Given the description of an element on the screen output the (x, y) to click on. 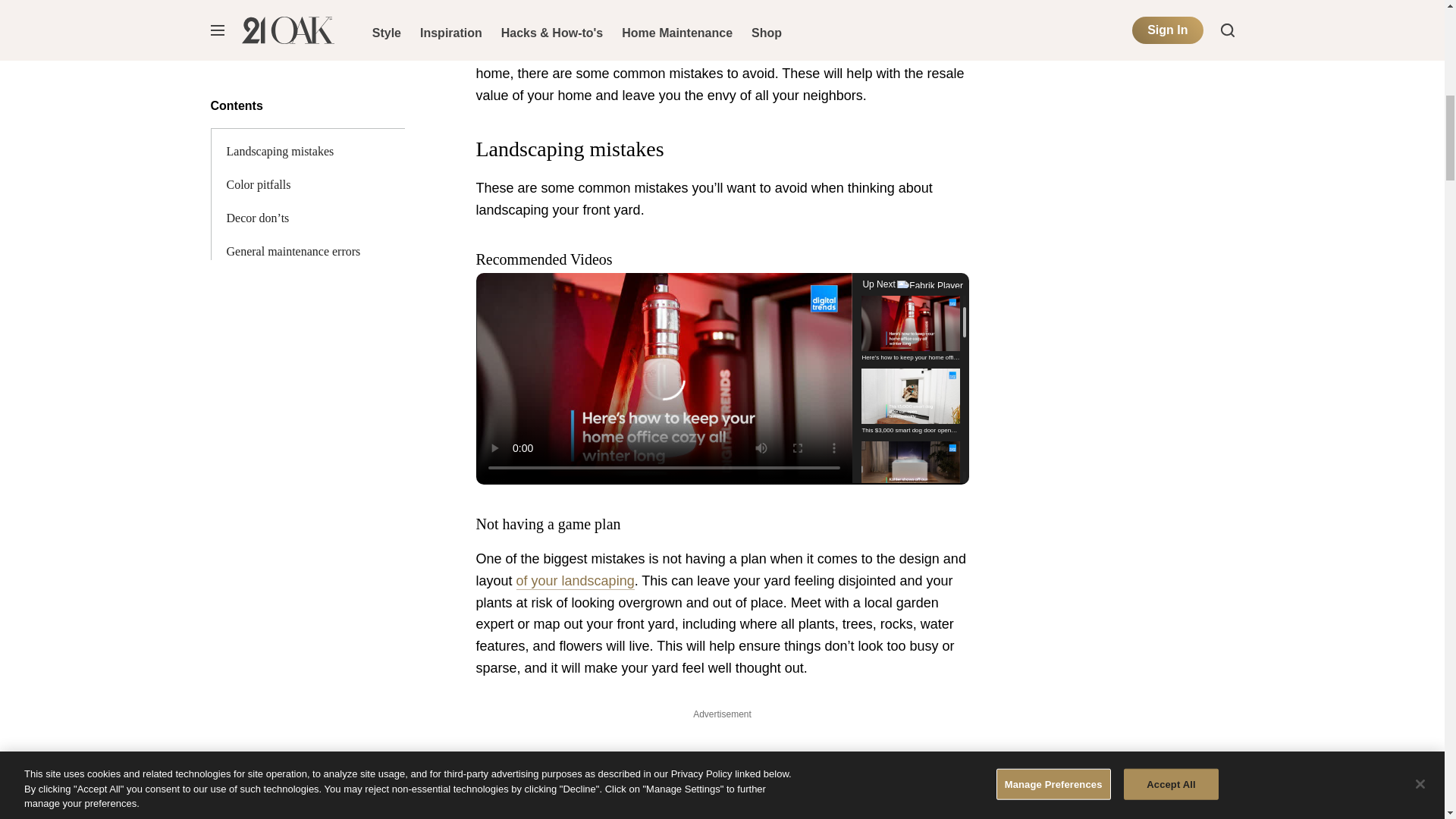
3rd party ad content (1120, 33)
